Given the description of an element on the screen output the (x, y) to click on. 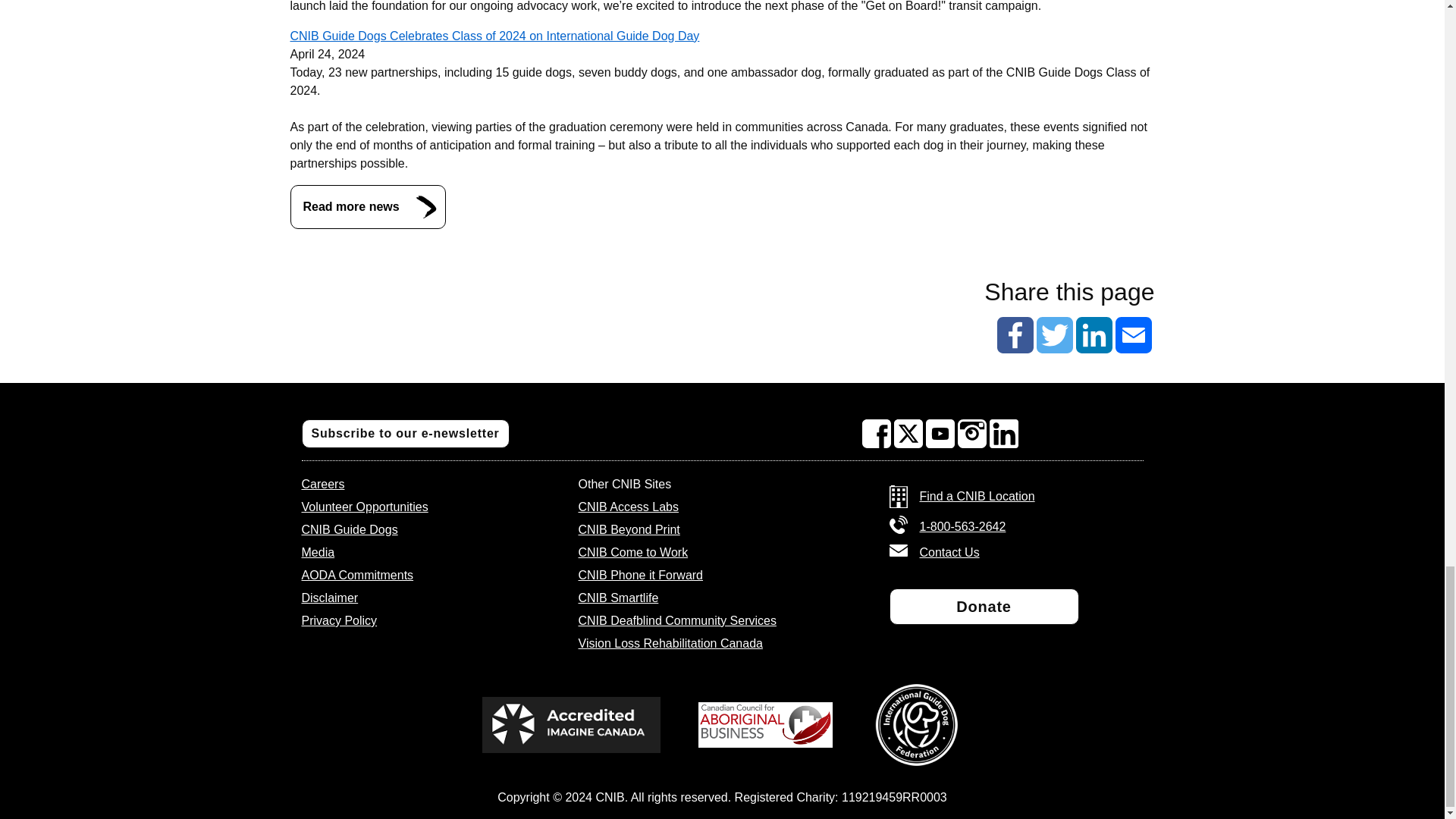
Follow us on youtube (940, 433)
Follow us on facebook (876, 433)
Follow us on X (908, 433)
Share this page on Twitter (1053, 334)
Share this page on LinkedIn (1093, 334)
Follow us on instagram (972, 433)
Share this page on Facebook (1013, 334)
Send this page by email (1133, 334)
Follow us on linkedin (1003, 433)
